Given the description of an element on the screen output the (x, y) to click on. 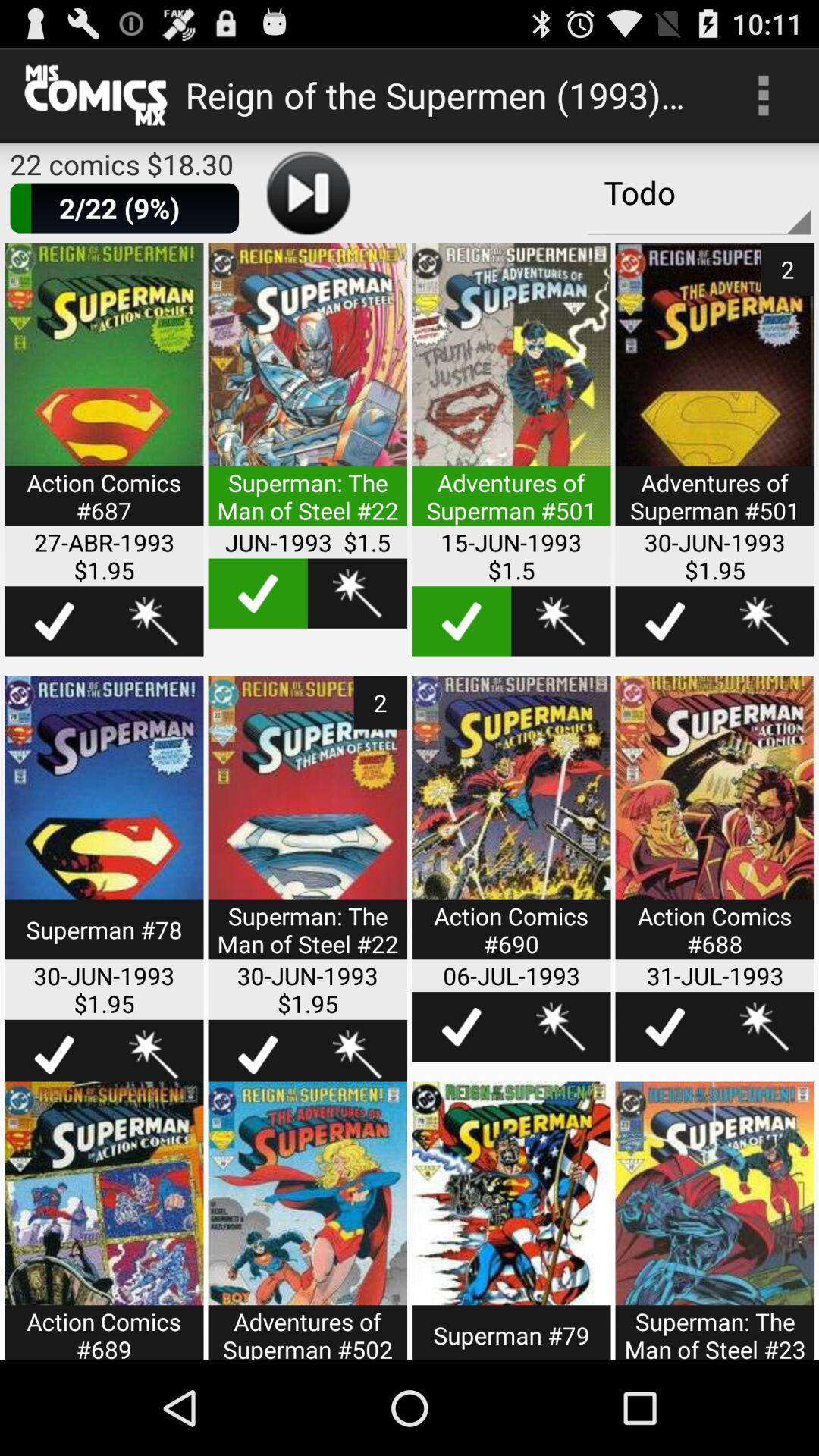
go to item (714, 1220)
